Given the description of an element on the screen output the (x, y) to click on. 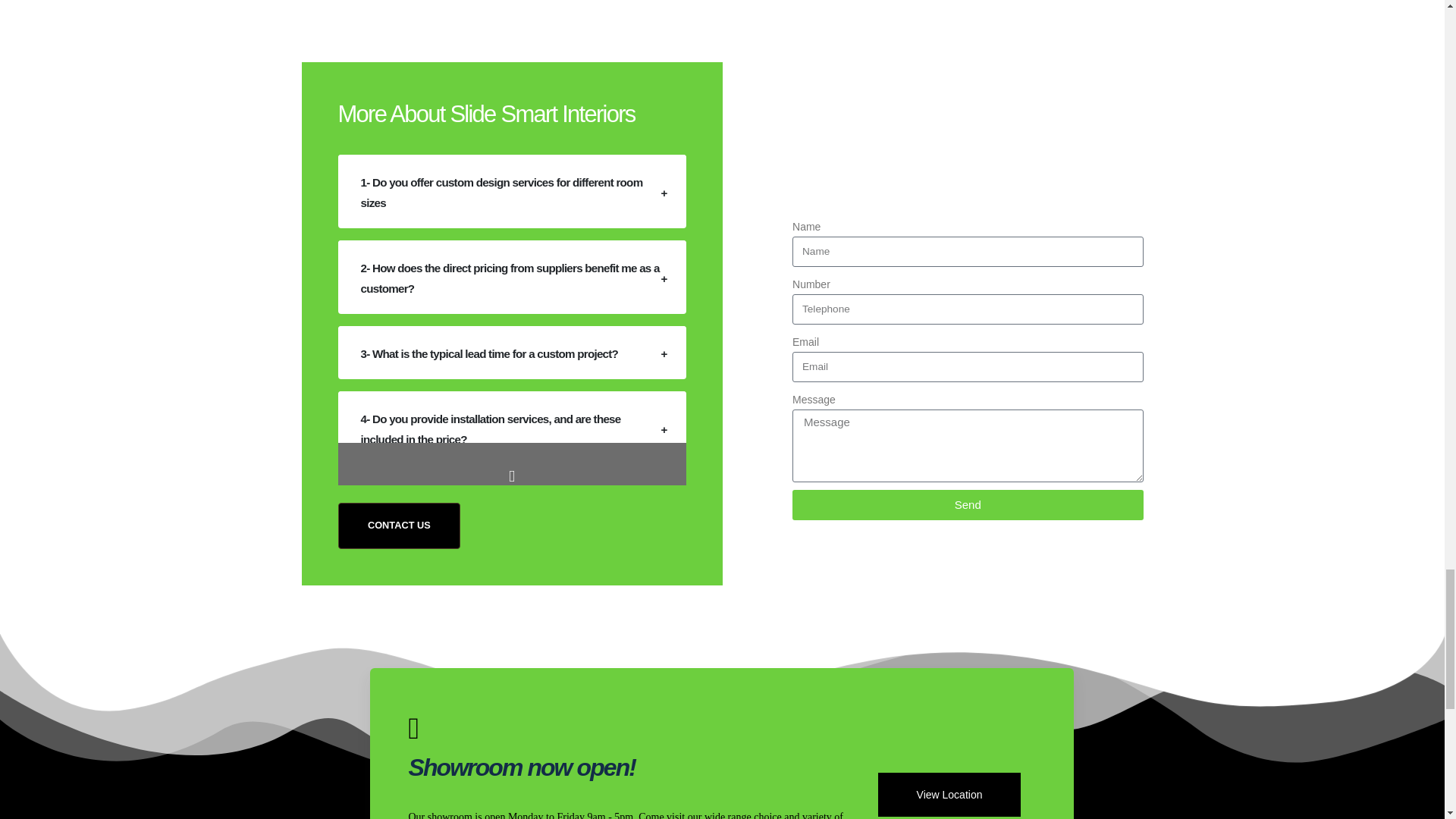
CONTACT US (399, 524)
View Location (949, 793)
Send (967, 504)
